Given the description of an element on the screen output the (x, y) to click on. 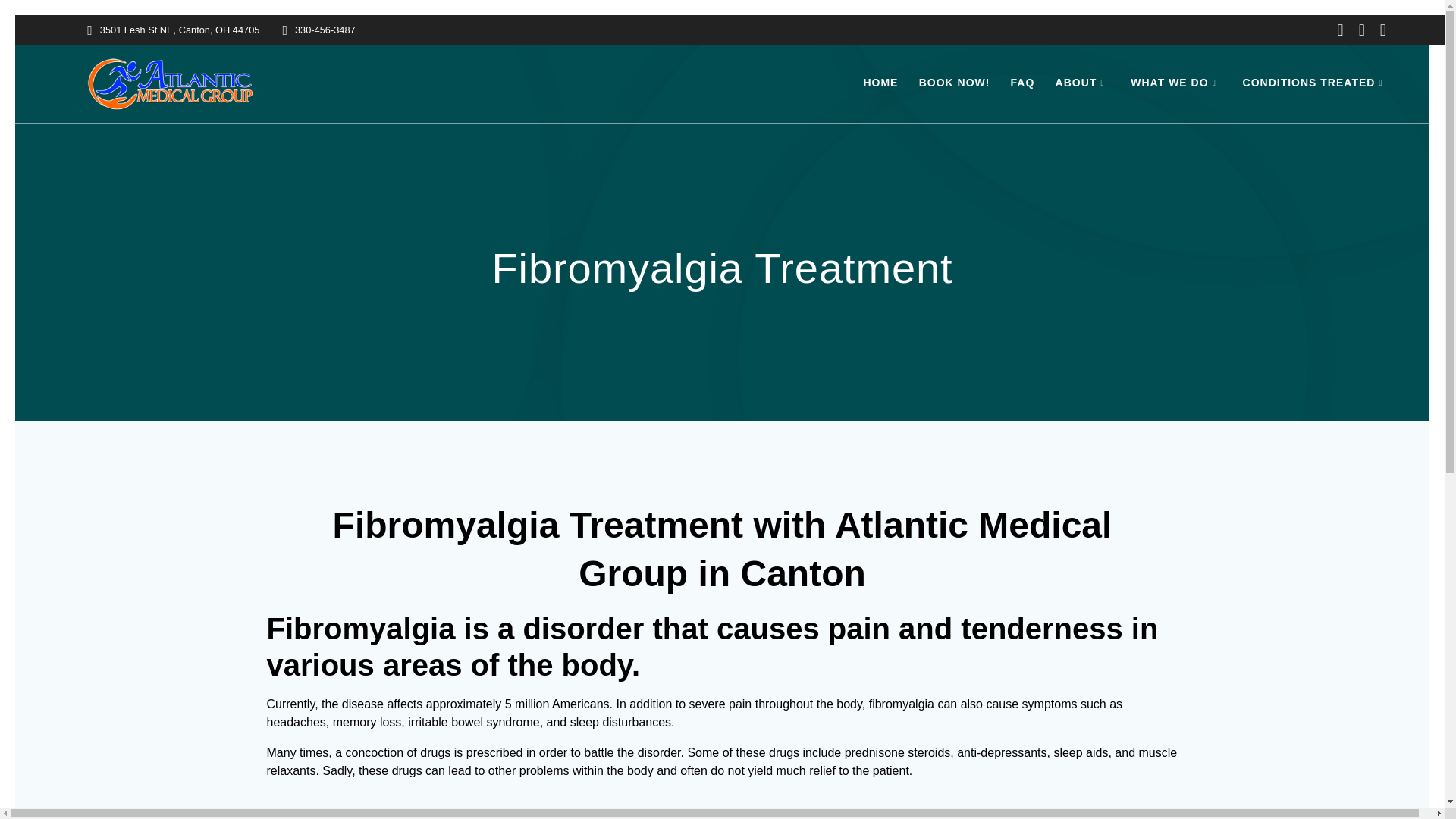
ABOUT (1082, 83)
HOME (880, 83)
WHAT WE DO (1176, 83)
BOOK NOW! (954, 83)
CONDITIONS TREATED (1316, 83)
FAQ (1022, 83)
